Given the description of an element on the screen output the (x, y) to click on. 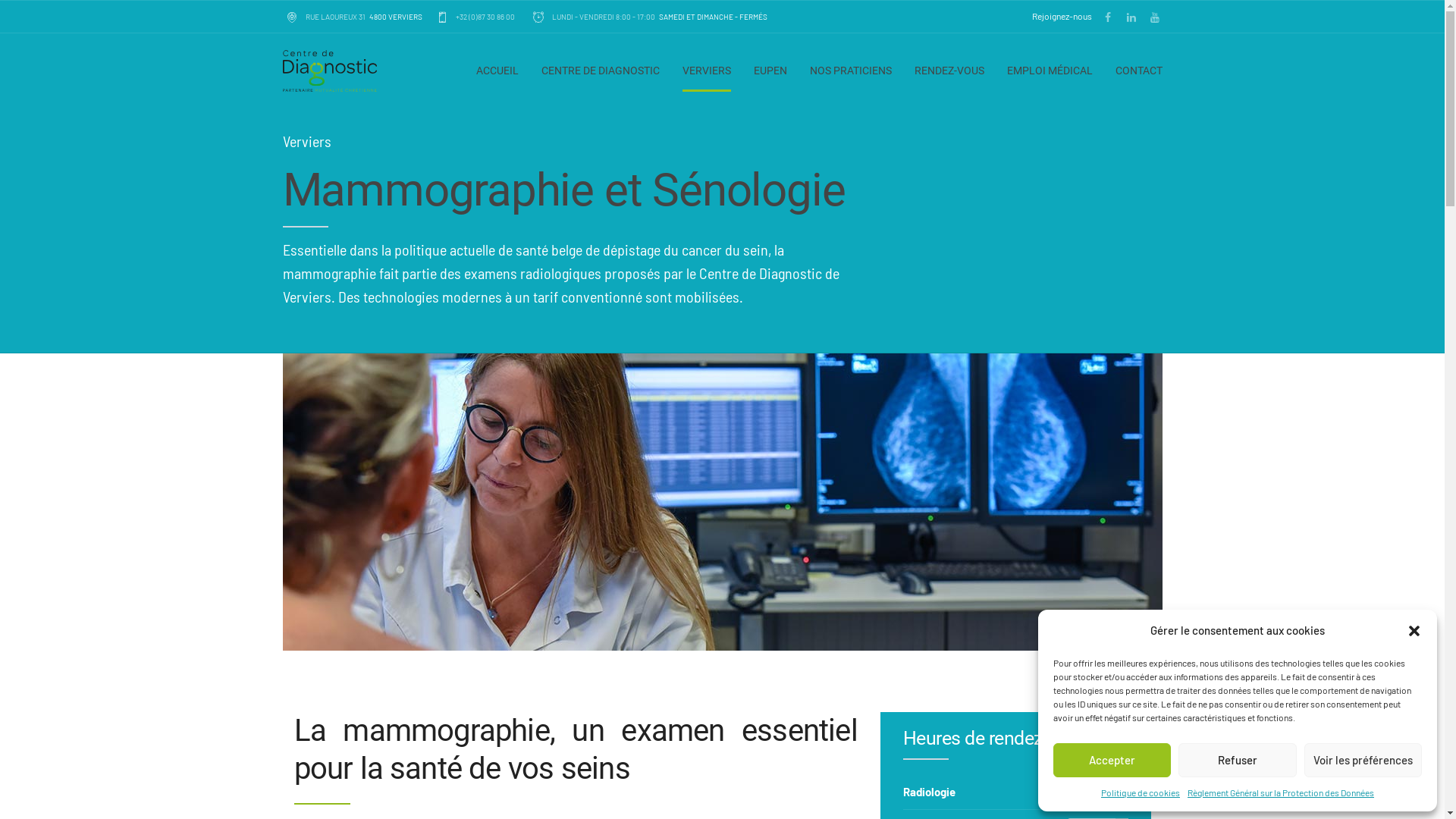
EUPEN Element type: text (770, 70)
NOS PRATICIENS Element type: text (850, 70)
ACCUEIL Element type: text (497, 70)
Politique de cookies Element type: text (1140, 792)
RENDEZ-VOUS Element type: text (949, 70)
CONTACT Element type: text (1137, 70)
Accepter Element type: text (1111, 760)
CENTRE DE DIAGNOSTIC Element type: text (600, 70)
+32 (0)87 30 86 00 Element type: text (475, 17)
Mammographie Verviers Centre Diagnostic Element type: hover (721, 501)
Refuser Element type: text (1236, 760)
VERVIERS Element type: text (706, 70)
